Given the description of an element on the screen output the (x, y) to click on. 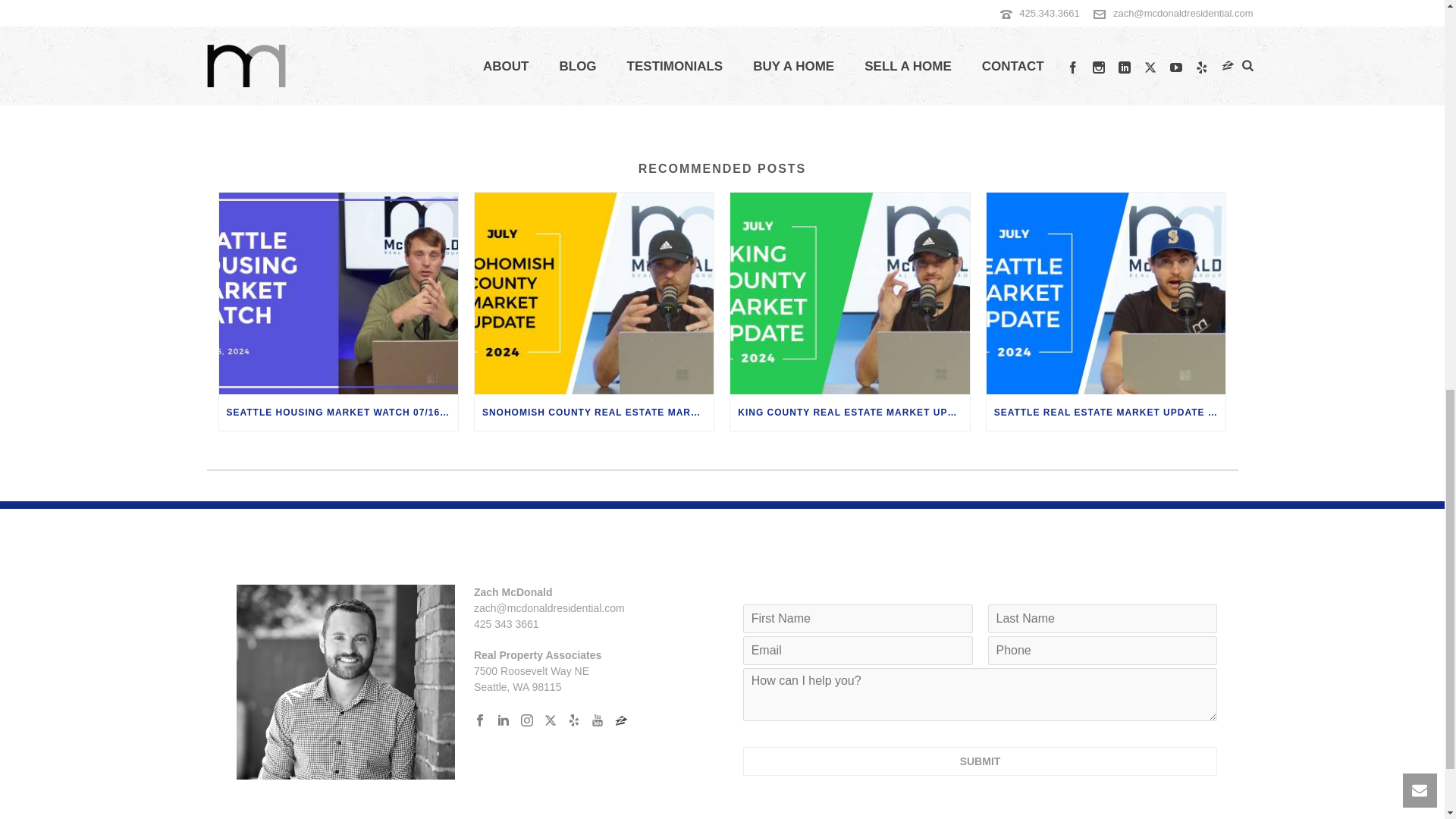
Posts by Zach McDonald (259, 4)
Follow Us on facebook (480, 721)
Follow Us on twitter (550, 721)
Follow Us on linkedin (503, 721)
Print (1203, 5)
Follow Us on yelp (573, 721)
Follow Us on youtube (597, 721)
Follow Us on instagram (526, 721)
